Given the description of an element on the screen output the (x, y) to click on. 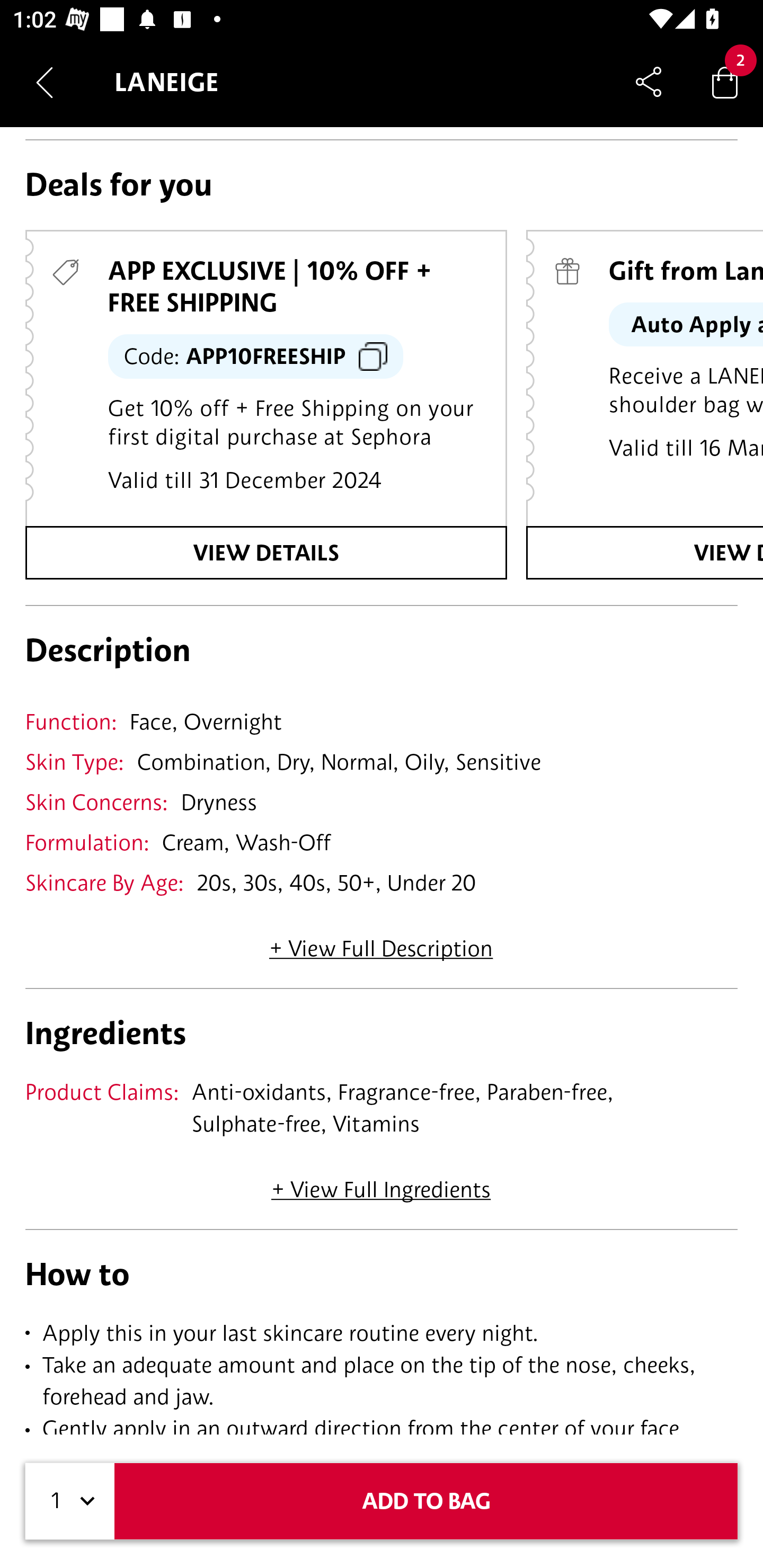
Navigate up (44, 82)
Share (648, 81)
Bag (724, 81)
VIEW DETAILS (266, 552)
+ View Full Description (380, 941)
+ View Full Ingredients (380, 1183)
1 (69, 1500)
ADD TO BAG (425, 1500)
